Given the description of an element on the screen output the (x, y) to click on. 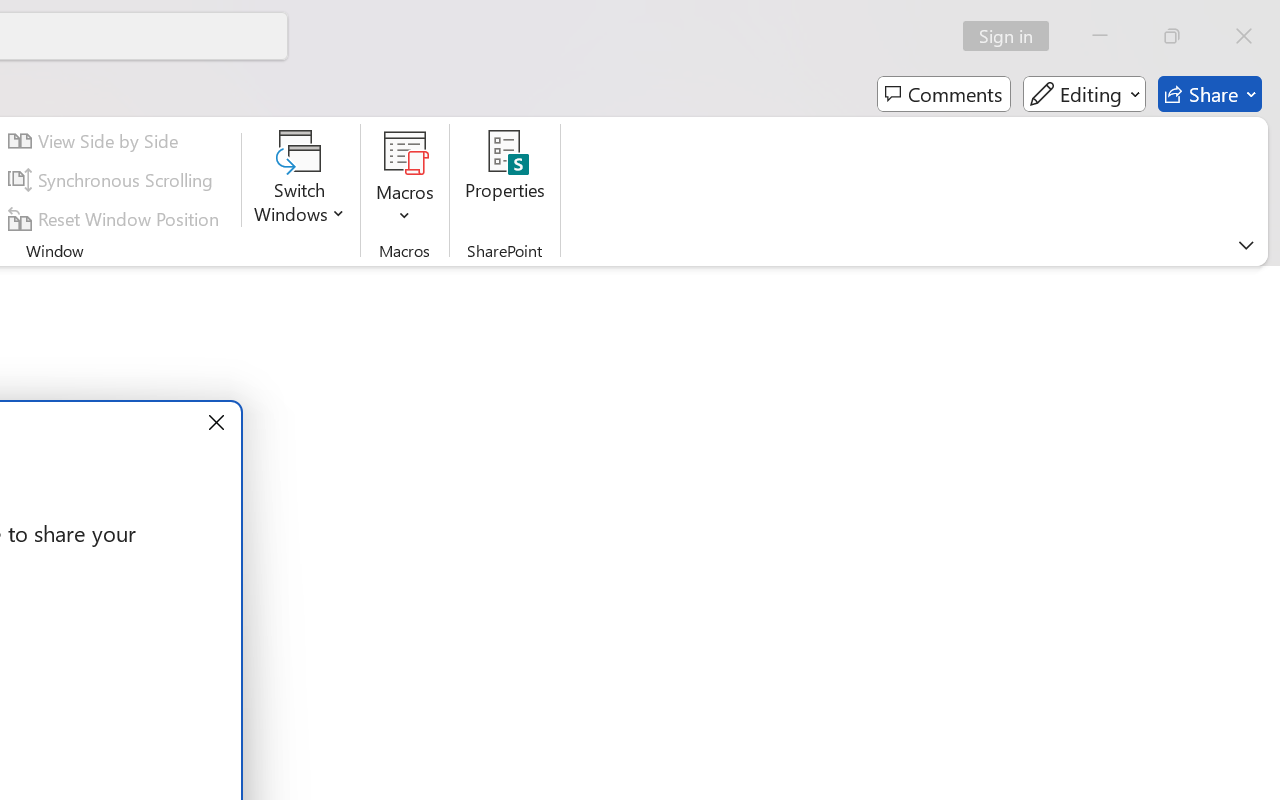
Macros (404, 179)
Reset Window Position (116, 218)
